Given the description of an element on the screen output the (x, y) to click on. 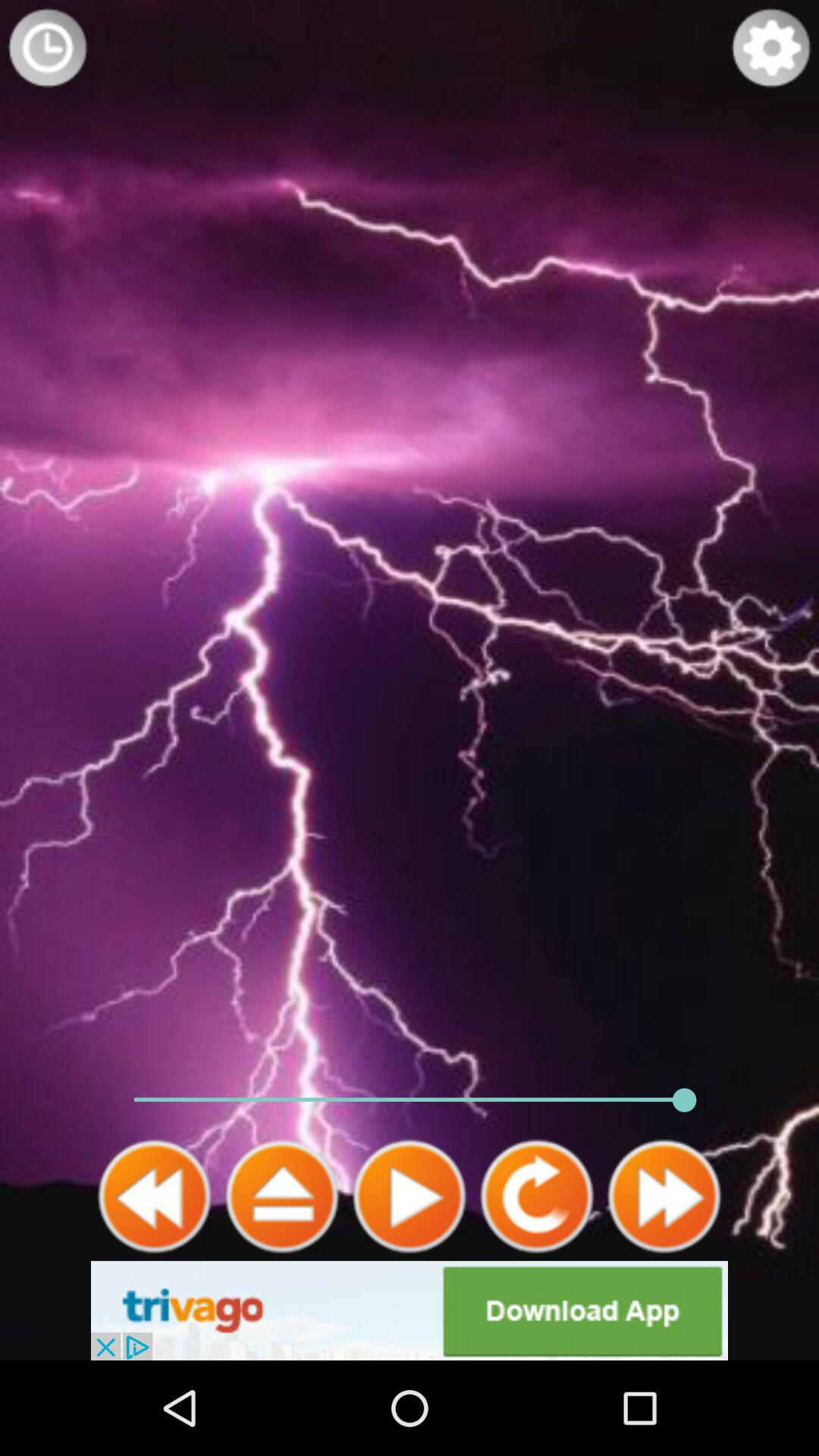
play (409, 1196)
